Given the description of an element on the screen output the (x, y) to click on. 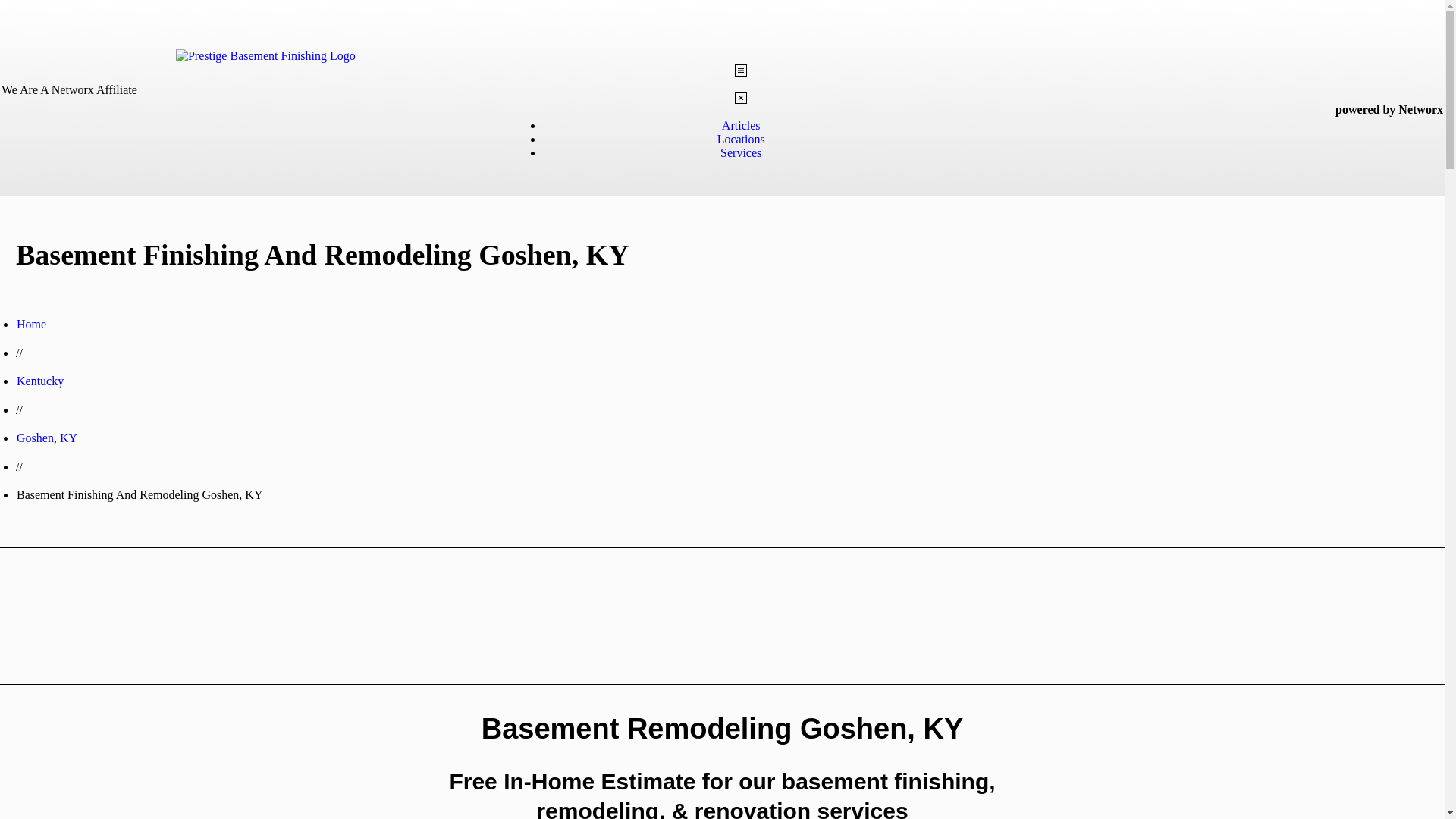
Kentucky (40, 380)
Articles (741, 124)
Locations (741, 138)
Goshen, KY (46, 437)
Services (740, 152)
Home (31, 323)
